Given the description of an element on the screen output the (x, y) to click on. 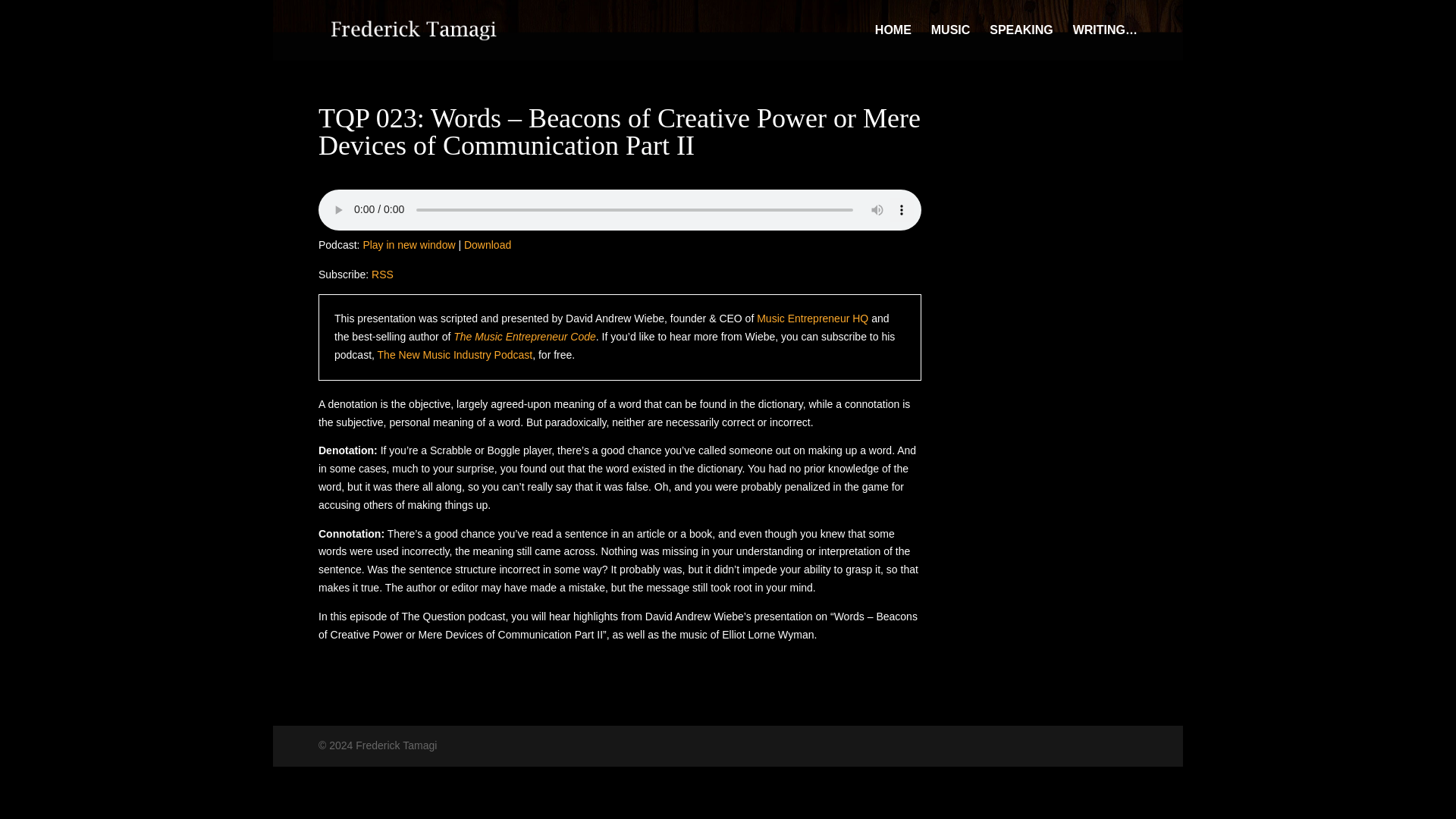
Subscribe via RSS (382, 274)
SPEAKING (1021, 42)
Download (487, 244)
Play in new window (408, 244)
The New Music Industry Podcast (454, 354)
Download (487, 244)
Music Entrepreneur HQ (812, 318)
The Music Entrepreneur Code (523, 336)
HOME (893, 42)
Play in new window (408, 244)
